Given the description of an element on the screen output the (x, y) to click on. 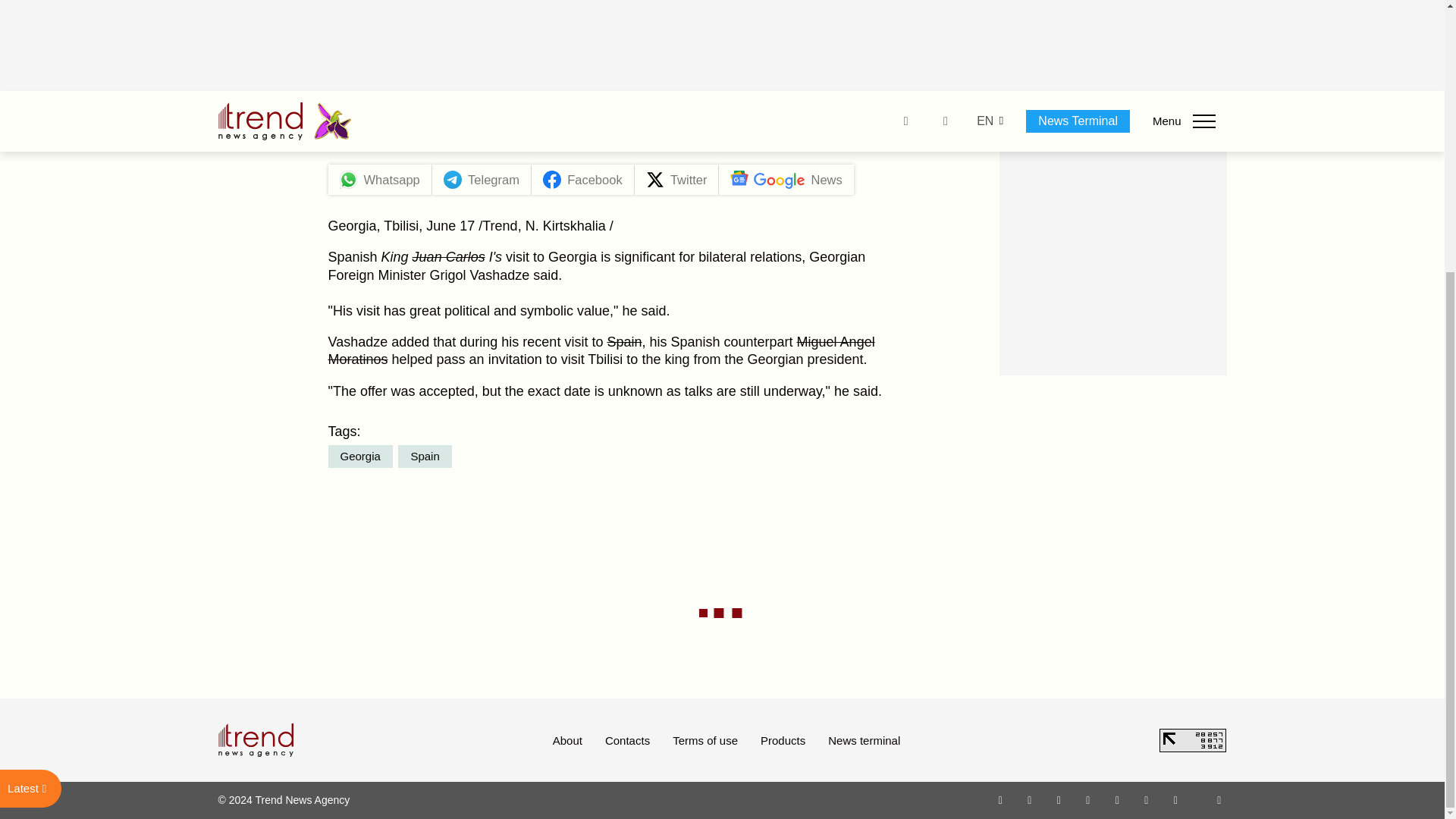
Facebook (1029, 799)
RSS Feed (1219, 799)
LinkedIn (1146, 799)
Whatsapp (1000, 799)
Youtube (1088, 799)
Telegram (1117, 799)
Twitter (1059, 799)
Android App (1176, 799)
